Given the description of an element on the screen output the (x, y) to click on. 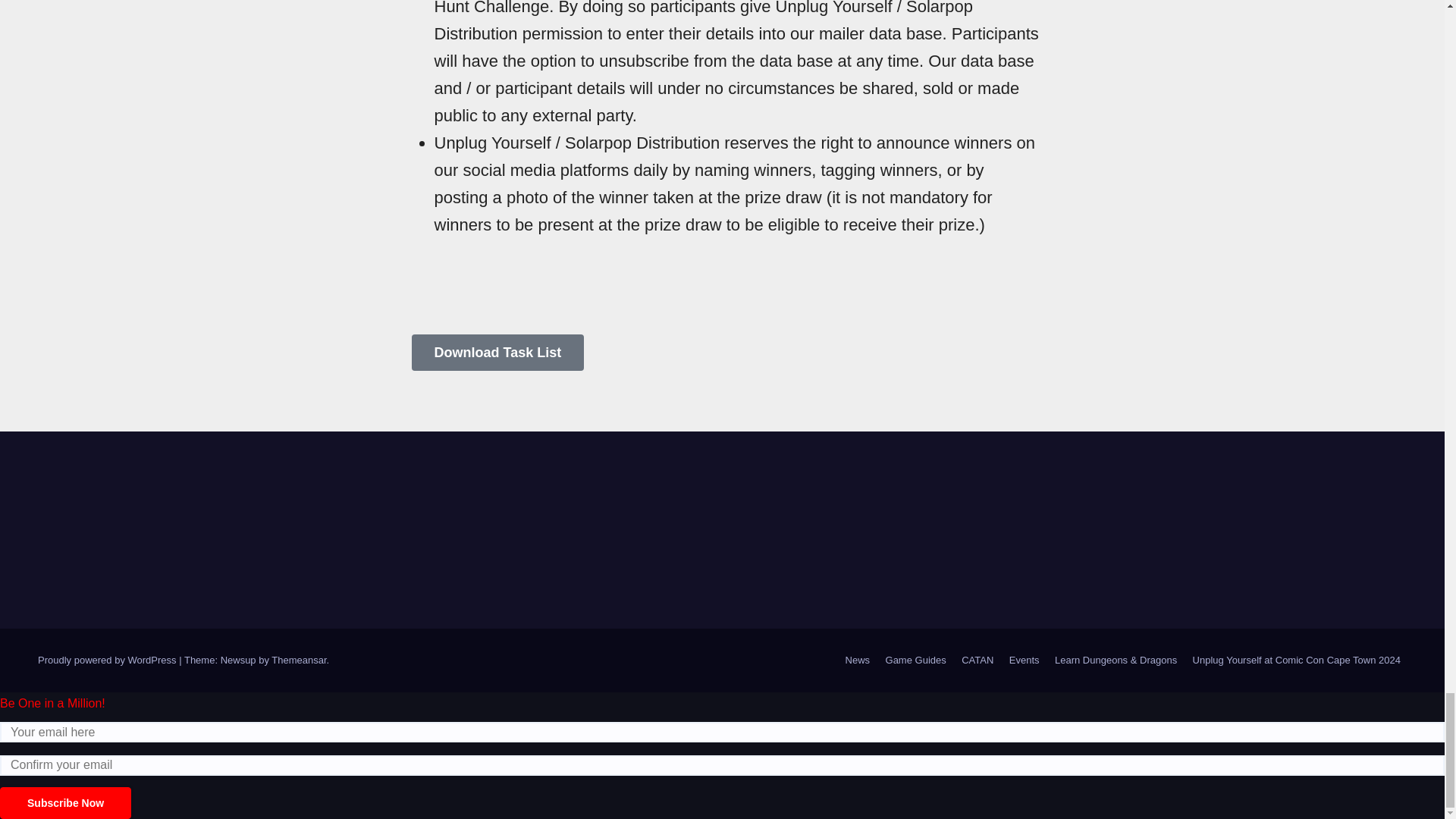
Download Task List (496, 352)
News (858, 660)
Game Guides (915, 660)
Themeansar (298, 659)
Events (1024, 660)
News (858, 660)
CATAN (976, 660)
Game Guides (915, 660)
CATAN (976, 660)
Unplug Yourself at Comic Con Cape Town 2024 (1296, 660)
